Given the description of an element on the screen output the (x, y) to click on. 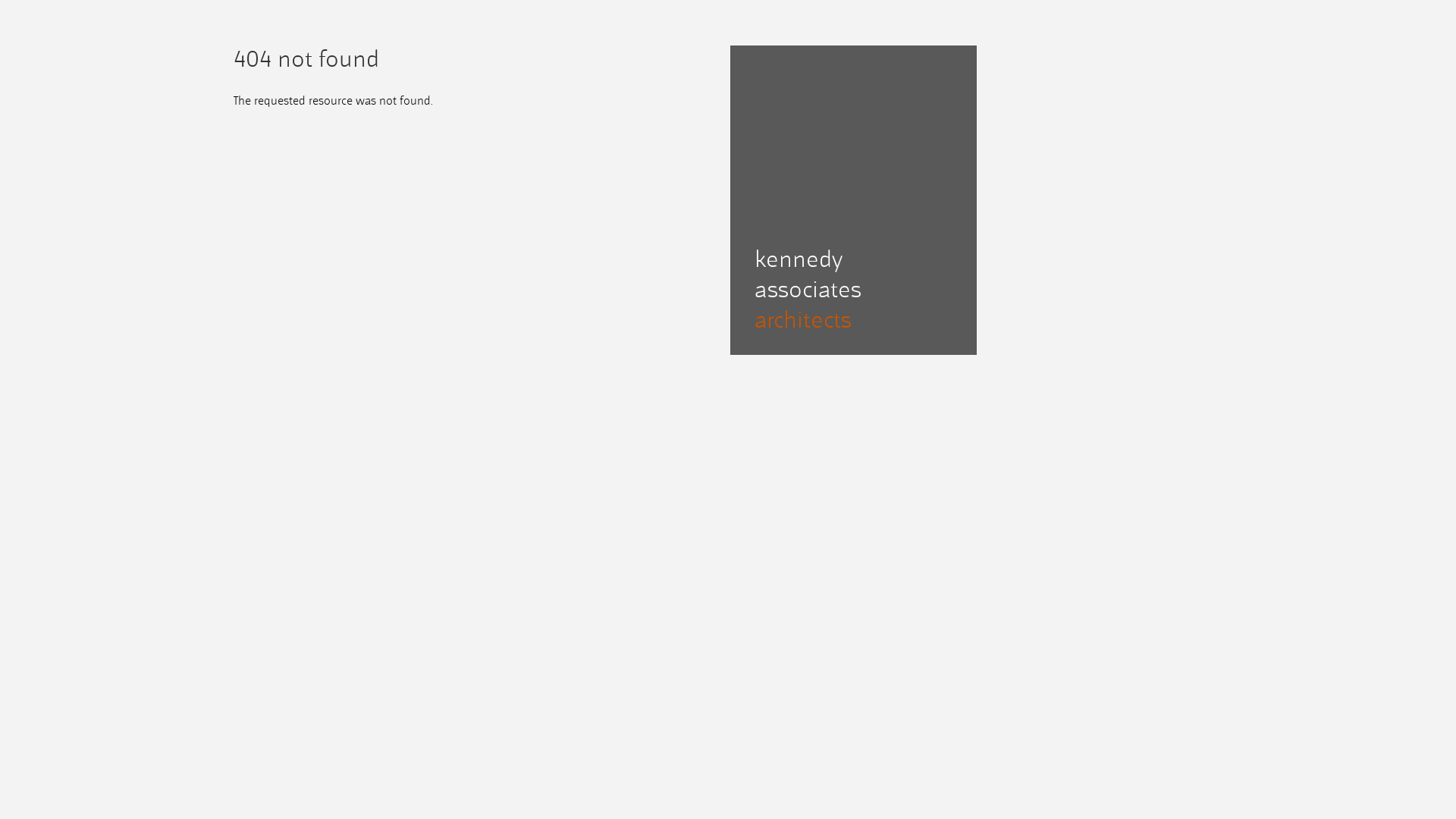
kennedy associates
architects Element type: text (852, 290)
